Given the description of an element on the screen output the (x, y) to click on. 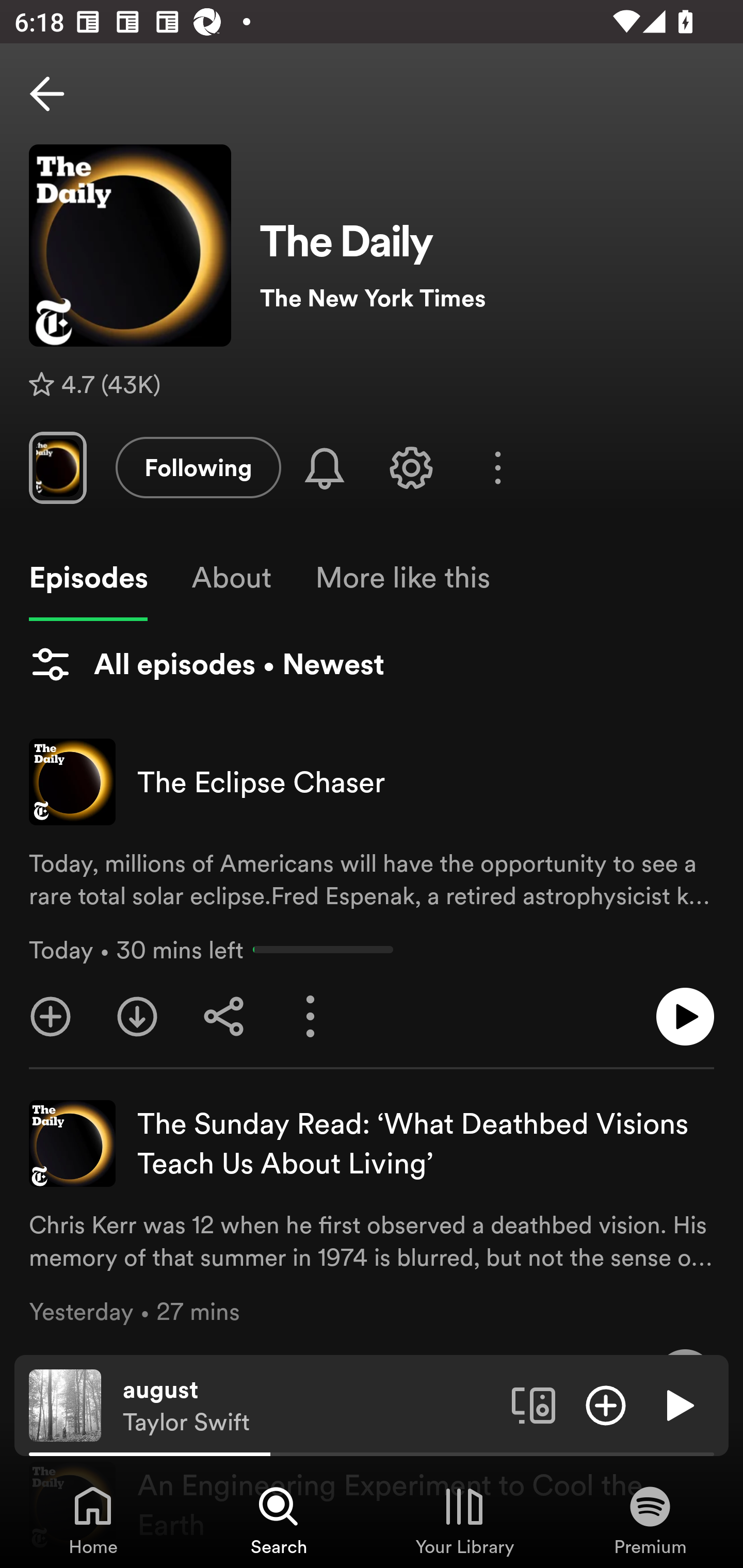
Back (46, 93)
The New York Times (487, 297)
Following Unfollow this show (197, 466)
Settings for this Show. (410, 467)
More options for show The Daily (497, 467)
About (231, 577)
More like this (402, 577)
All episodes • Newest (206, 663)
Add The Eclipse Chaser to Your Episodes (50, 1016)
Download episode: The Eclipse Chaser (136, 1016)
Share (223, 1016)
More options for episode The Eclipse Chaser (310, 1016)
Play episode: The Eclipse Chaser (684, 1016)
august Taylor Swift (309, 1405)
The cover art of the currently playing track (64, 1404)
Connect to a device. Opens the devices menu (533, 1404)
Add item (605, 1404)
Play (677, 1404)
Home, Tab 1 of 4 Home Home (92, 1519)
Search, Tab 2 of 4 Search Search (278, 1519)
Your Library, Tab 3 of 4 Your Library Your Library (464, 1519)
Premium, Tab 4 of 4 Premium Premium (650, 1519)
